Given the description of an element on the screen output the (x, y) to click on. 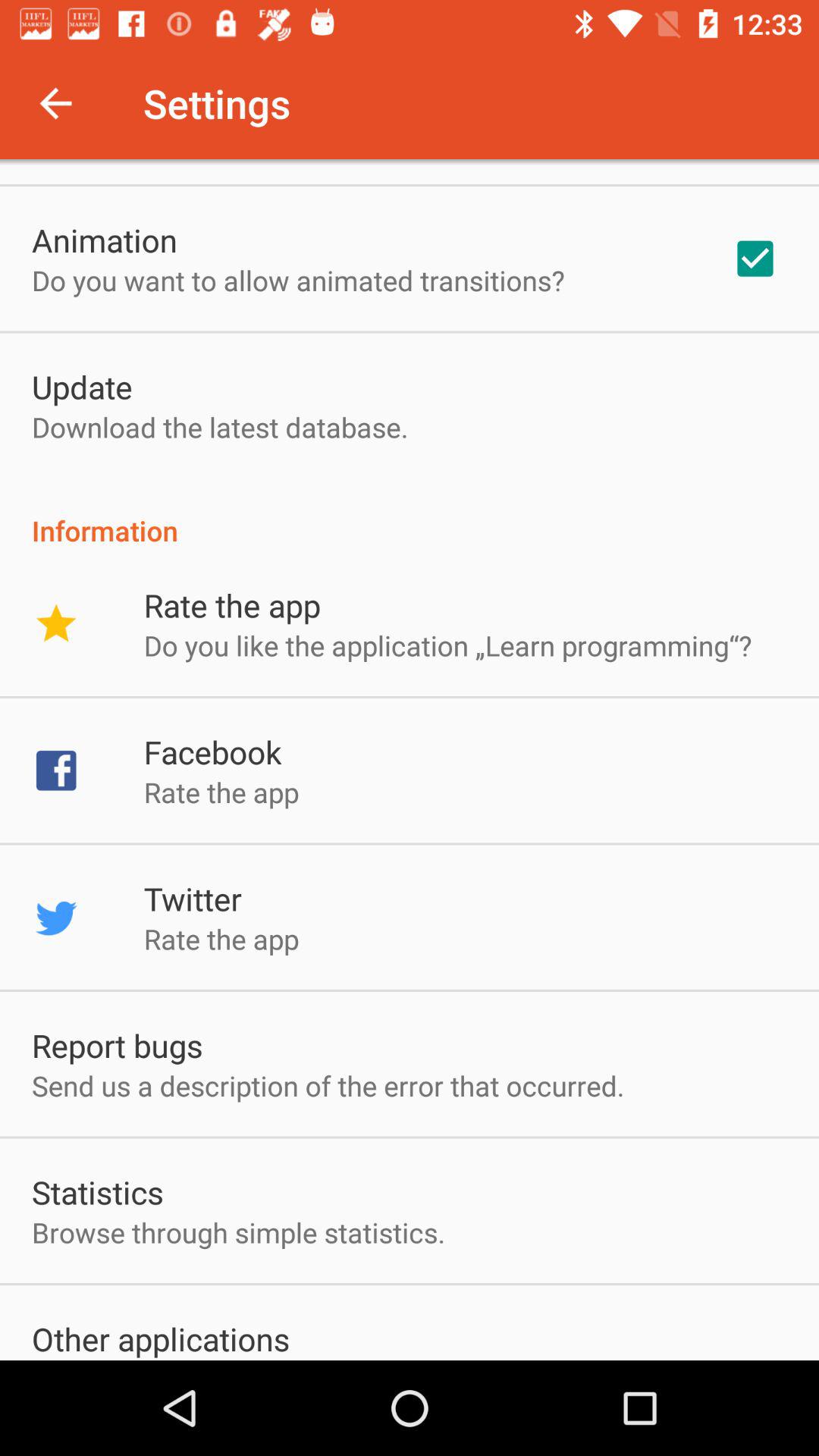
click the icon next to the settings item (55, 103)
